Given the description of an element on the screen output the (x, y) to click on. 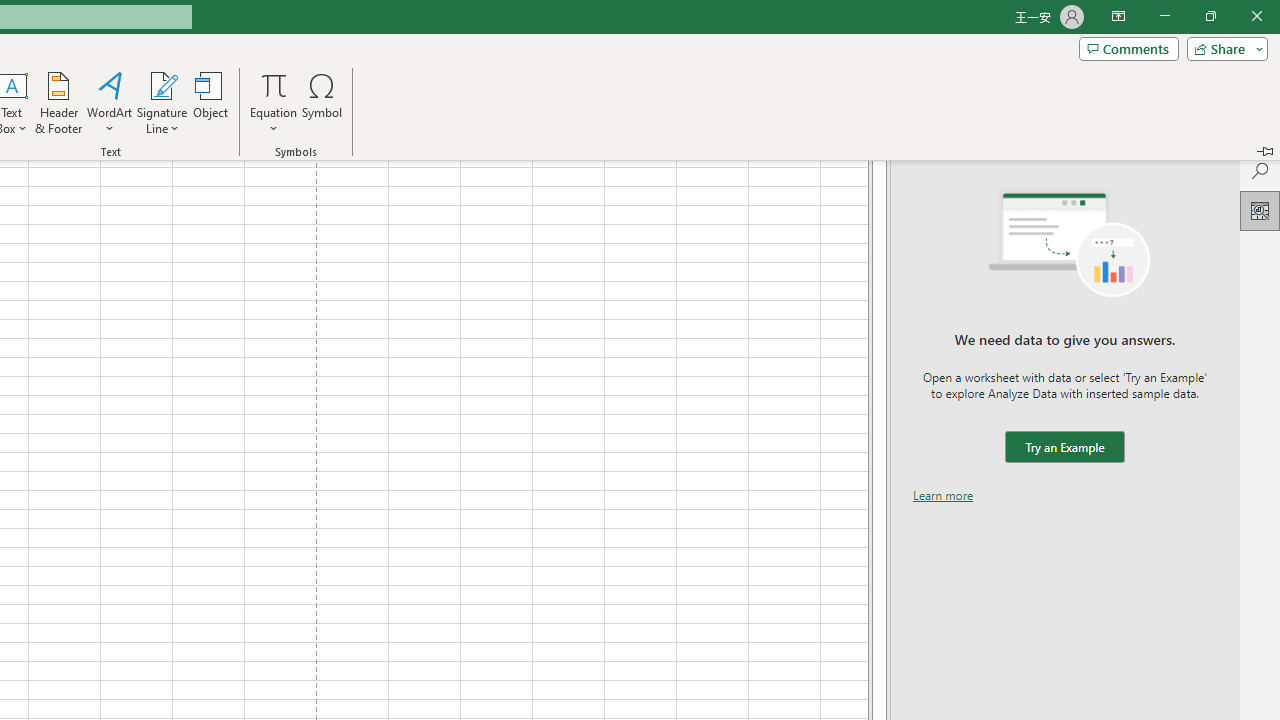
Ribbon Display Options (1118, 16)
Analyze Data (1260, 210)
Restore Down (1210, 16)
Share (1223, 48)
Learn more (943, 494)
Minimize (1164, 16)
Comments (1128, 48)
We need data to give you answers. Try an Example (1064, 447)
Close (1256, 16)
